Given the description of an element on the screen output the (x, y) to click on. 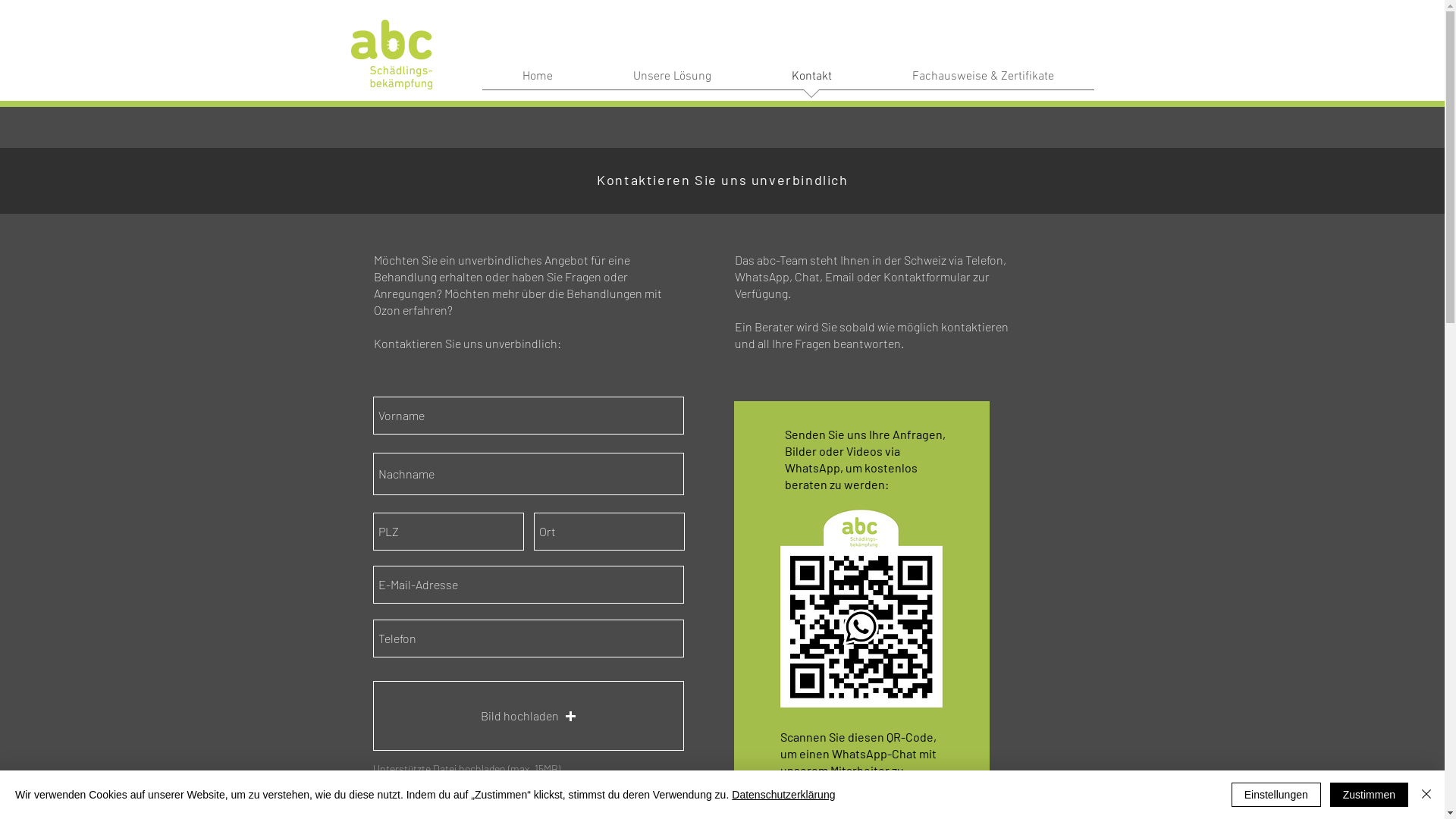
Home Element type: text (537, 81)
Einstellungen Element type: text (1276, 794)
Fachausweise & Zertifikate Element type: text (983, 81)
Kontakt Element type: text (810, 81)
Zustimmen Element type: text (1369, 794)
